Given the description of an element on the screen output the (x, y) to click on. 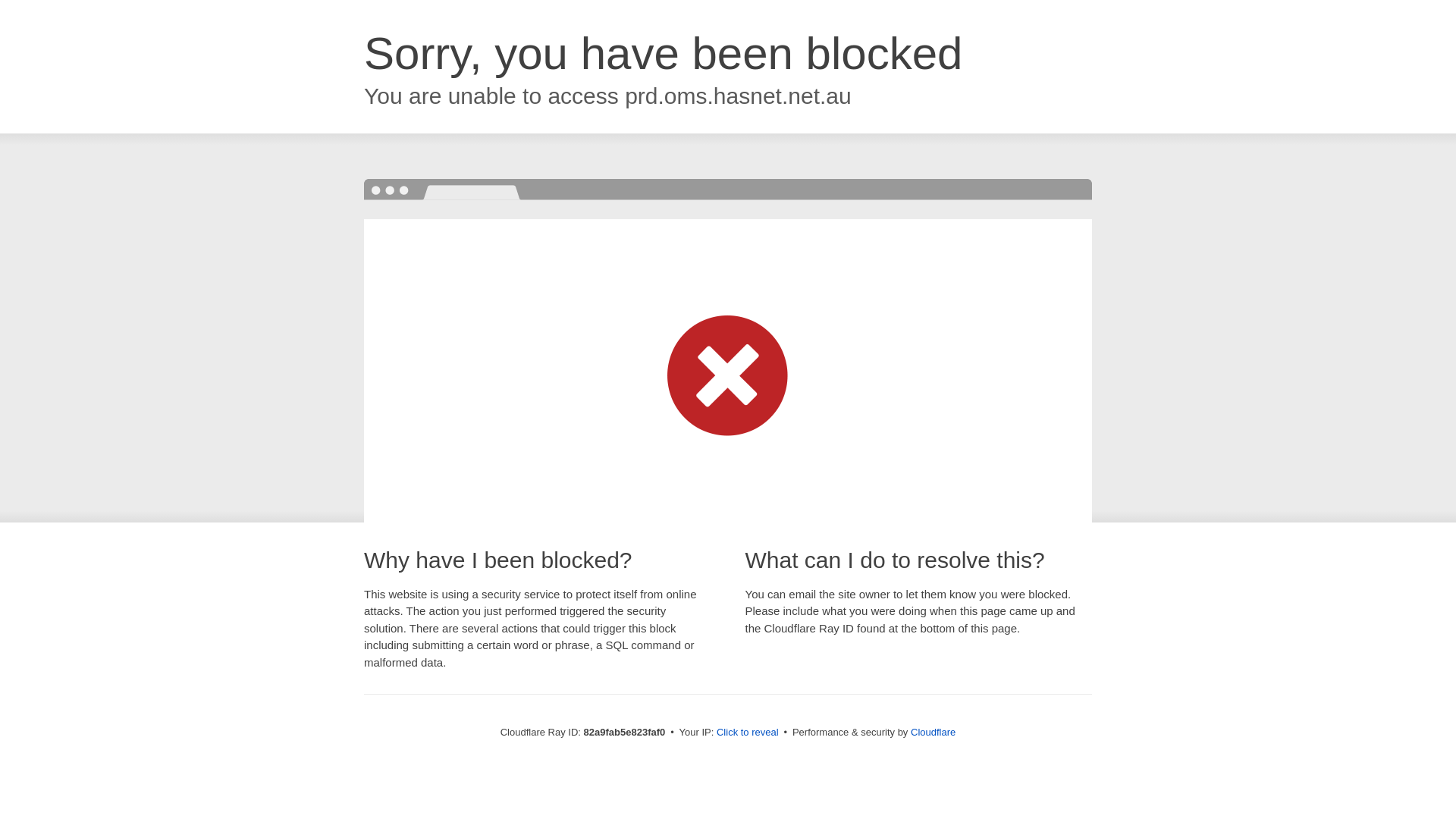
Cloudflare Element type: text (932, 731)
Click to reveal Element type: text (747, 732)
